Given the description of an element on the screen output the (x, y) to click on. 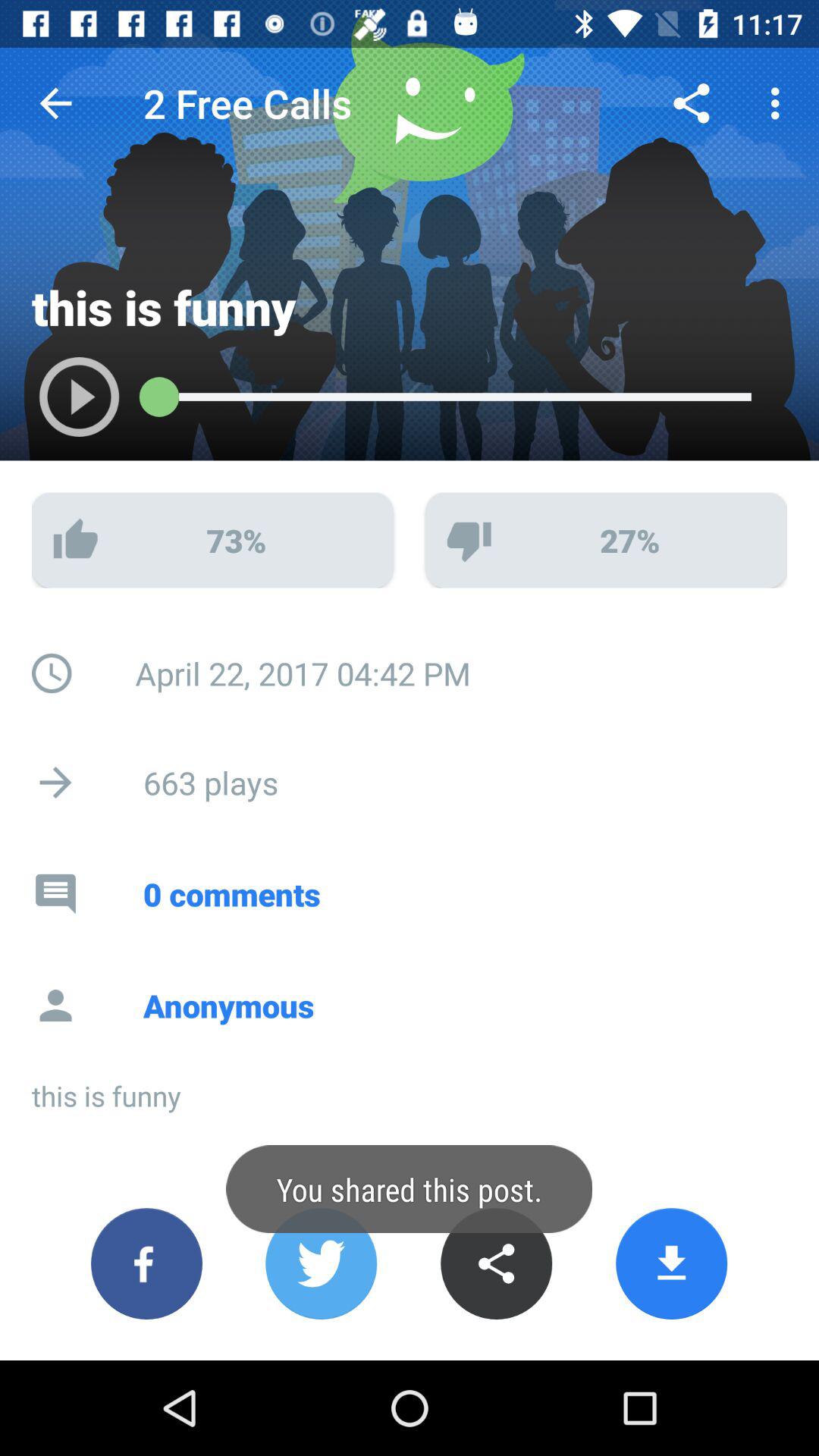
play media this is funny (63, 404)
